Given the description of an element on the screen output the (x, y) to click on. 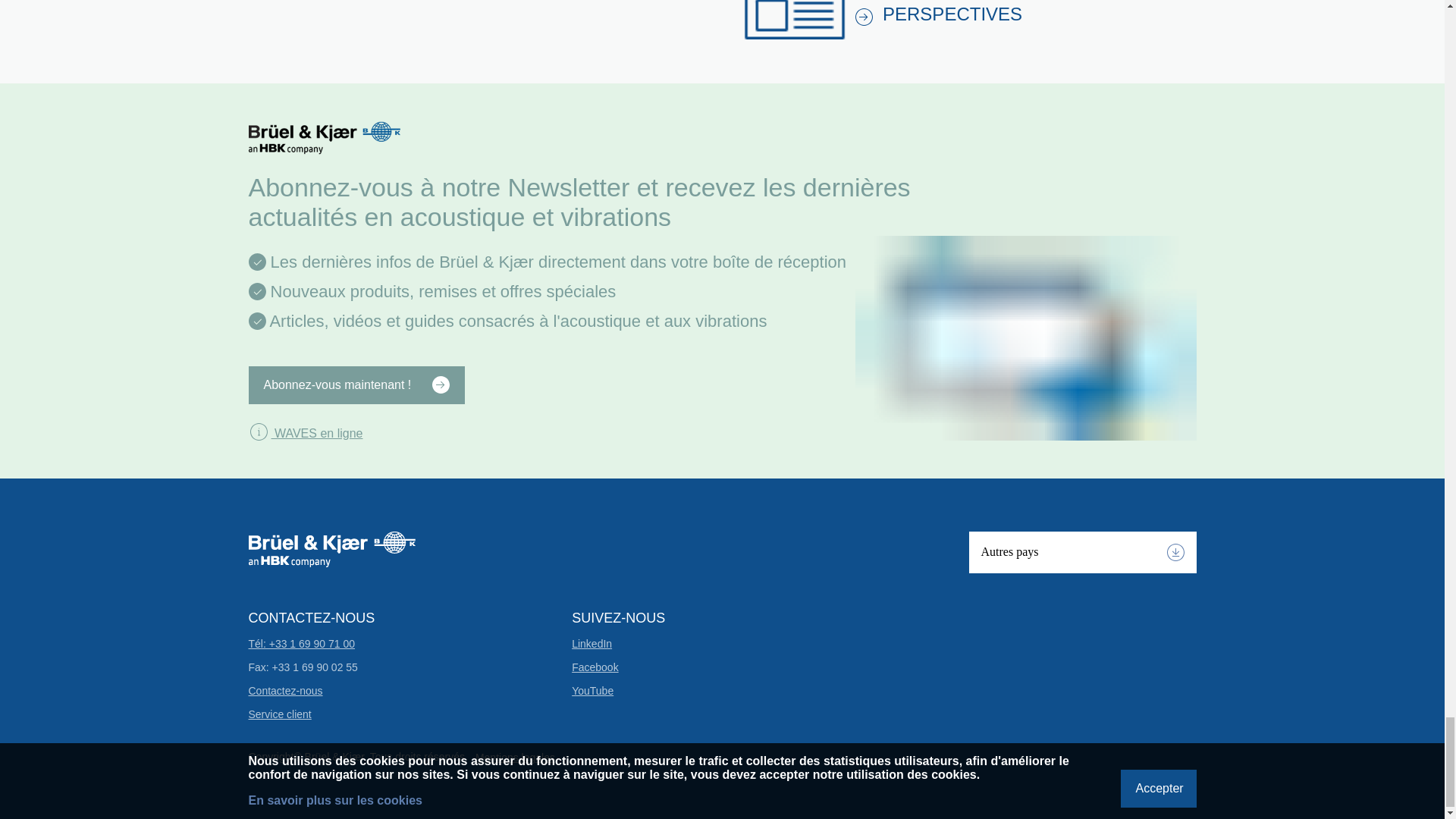
Lire WAVES en ligne (306, 431)
